Given the description of an element on the screen output the (x, y) to click on. 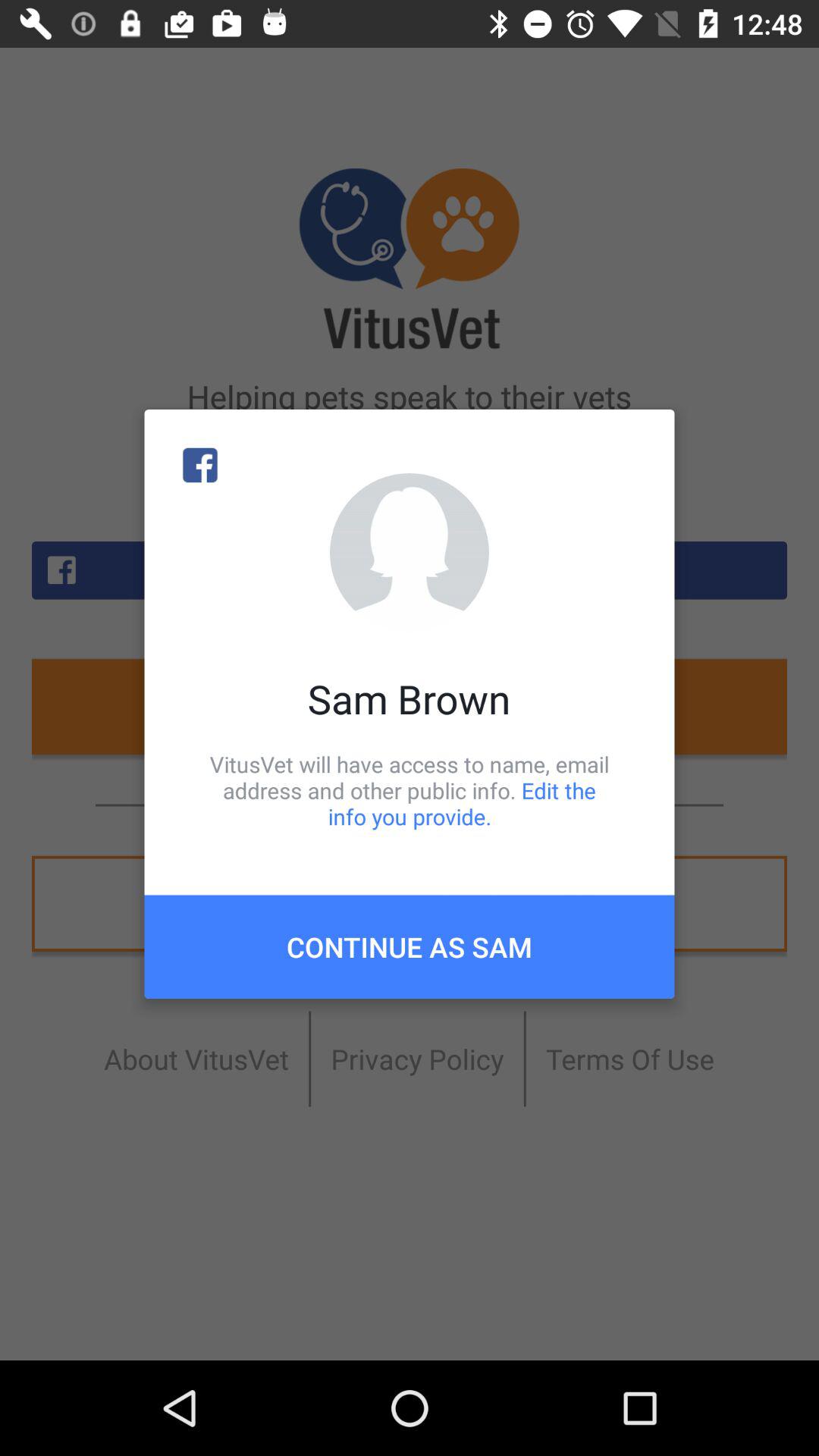
select continue as sam (409, 946)
